Given the description of an element on the screen output the (x, y) to click on. 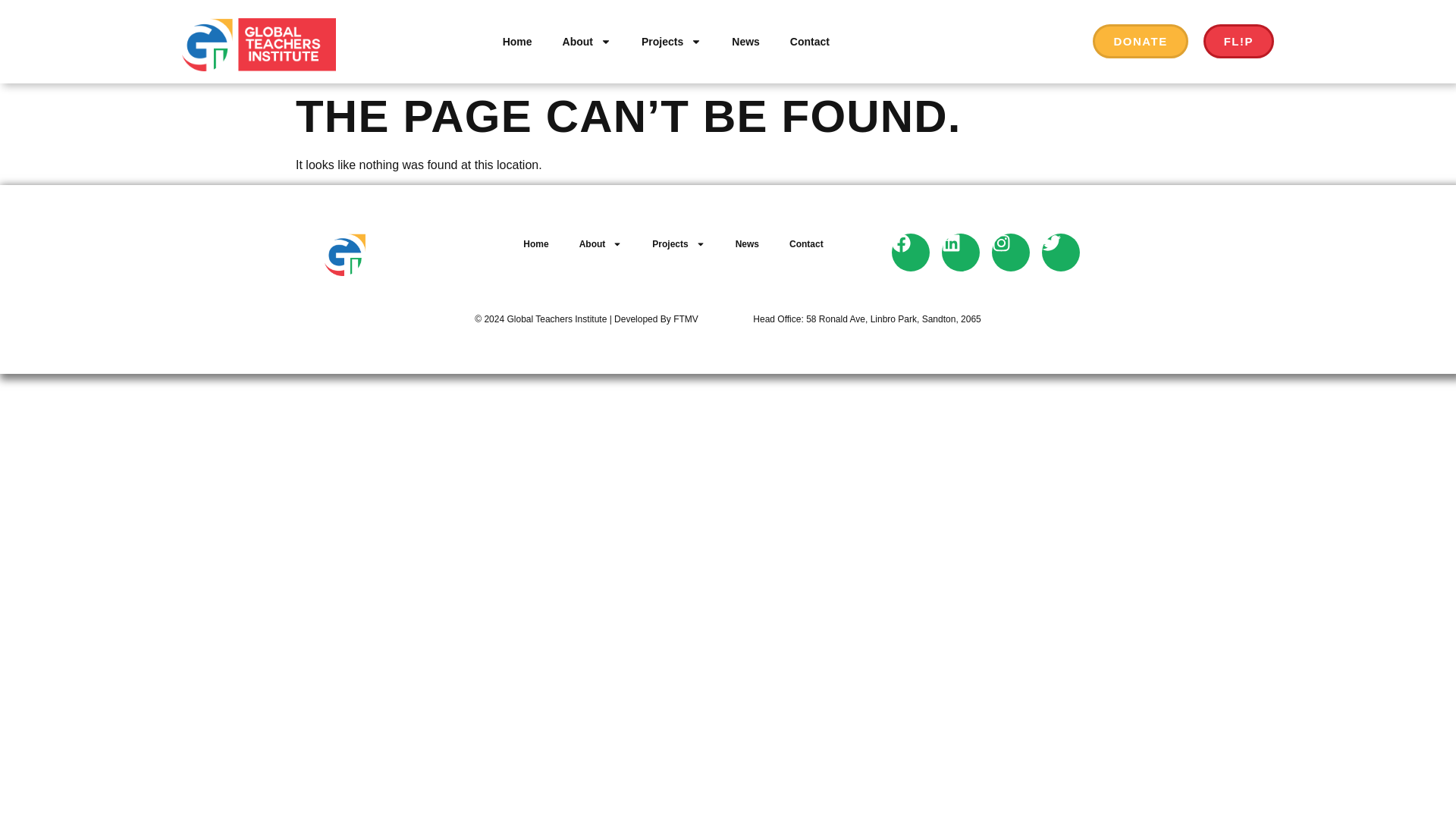
DONATE (1140, 41)
Home (517, 41)
favicon (204, 28)
News (745, 28)
News (745, 41)
Projects (671, 41)
About (586, 41)
Contact (809, 28)
FL!P (1239, 41)
Home (516, 28)
